Given the description of an element on the screen output the (x, y) to click on. 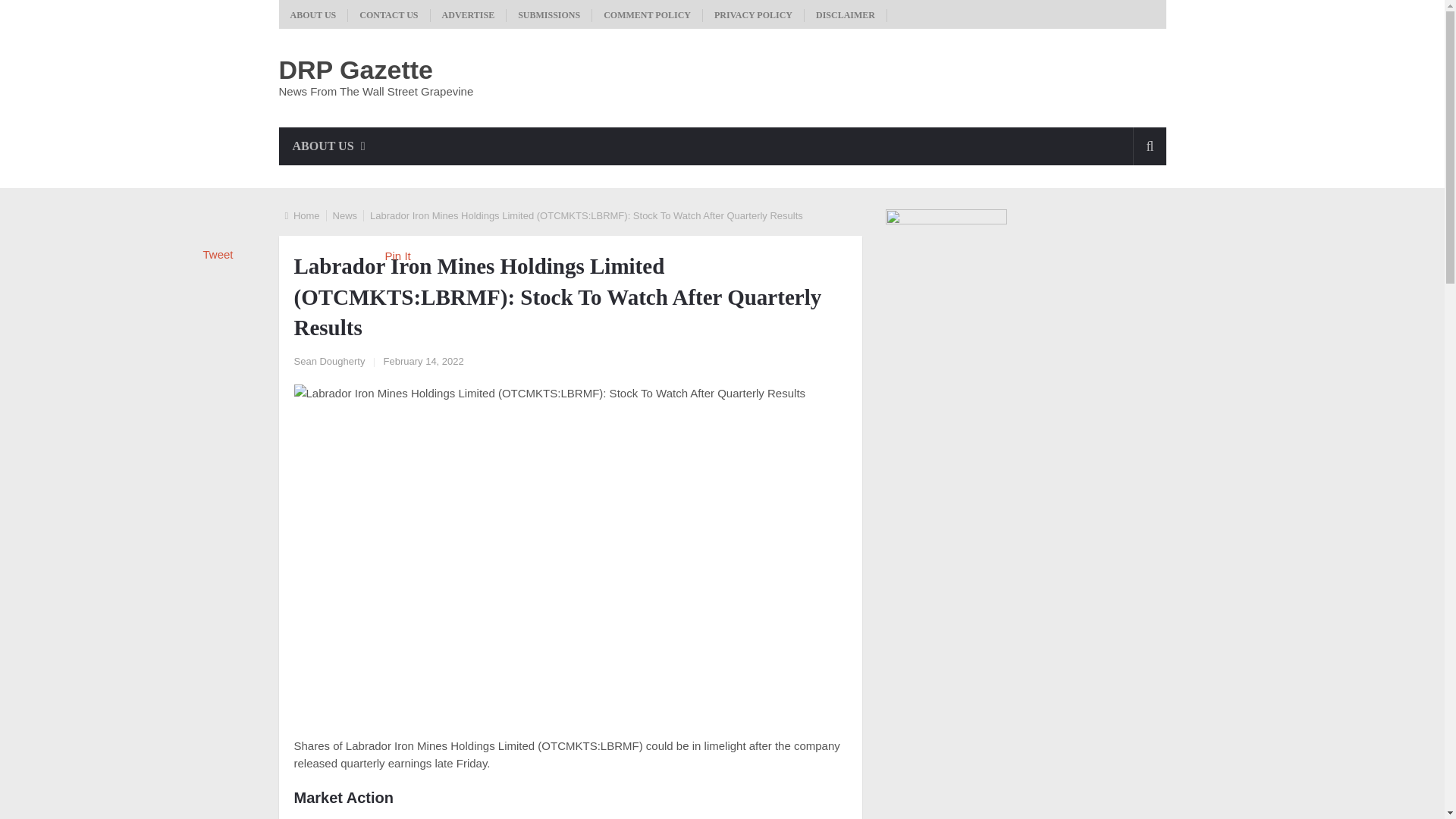
ABOUT US (329, 146)
PRIVACY POLICY (754, 15)
CONTACT US (388, 15)
Home (307, 215)
Posts by Sean Dougherty (329, 360)
COMMENT POLICY (647, 15)
Tweet (217, 254)
News (345, 215)
DISCLAIMER (845, 15)
ADVERTISE (468, 15)
